Given the description of an element on the screen output the (x, y) to click on. 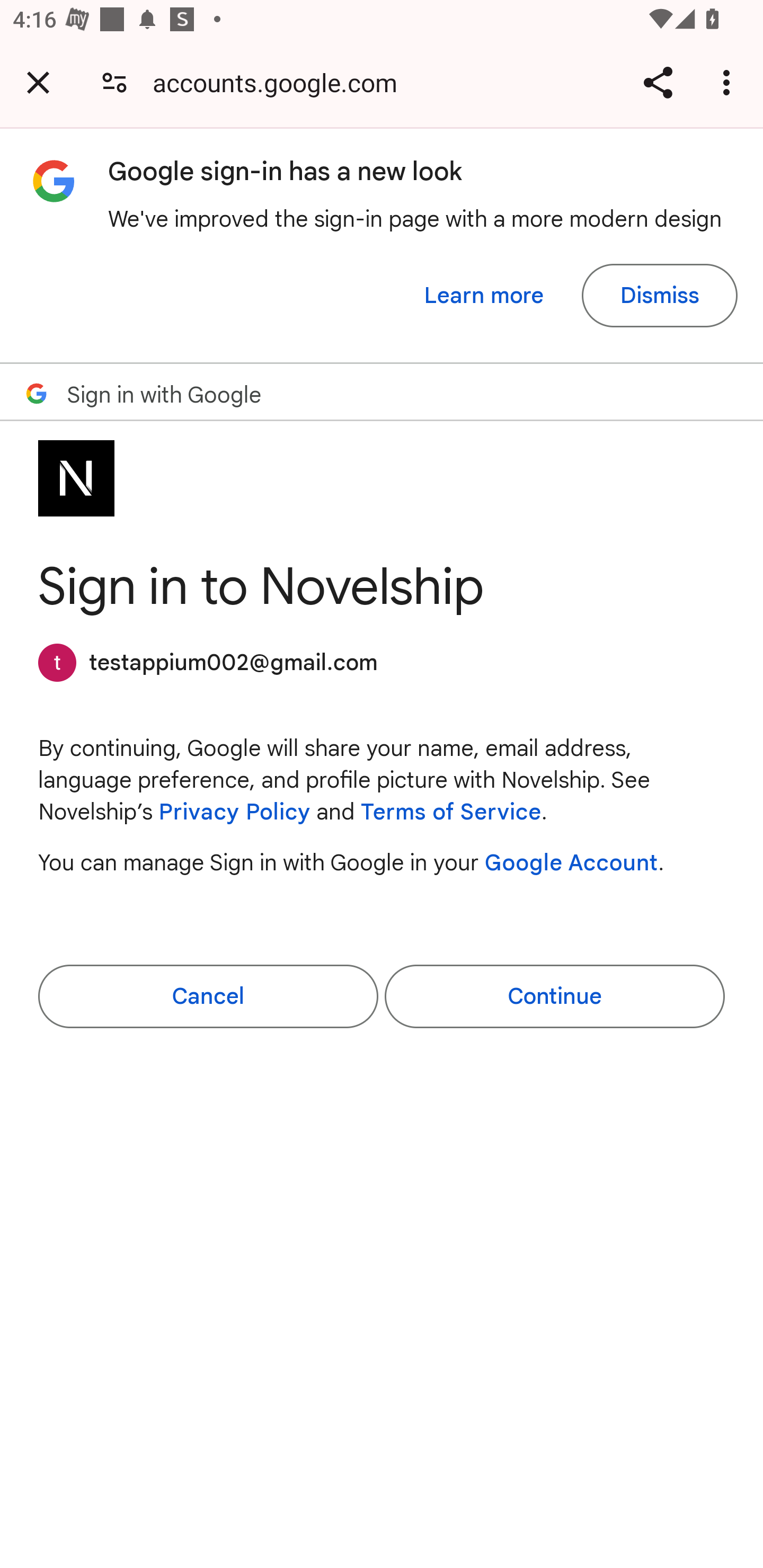
Close tab (38, 82)
Share (657, 82)
Customize and control Google Chrome (729, 82)
Connection is secure (114, 81)
accounts.google.com (281, 81)
Learn more (483, 295)
Dismiss (659, 295)
Privacy Policy (234, 811)
Terms of Service (450, 811)
Google Account (570, 862)
Cancel (208, 996)
Continue (554, 996)
